Given the description of an element on the screen output the (x, y) to click on. 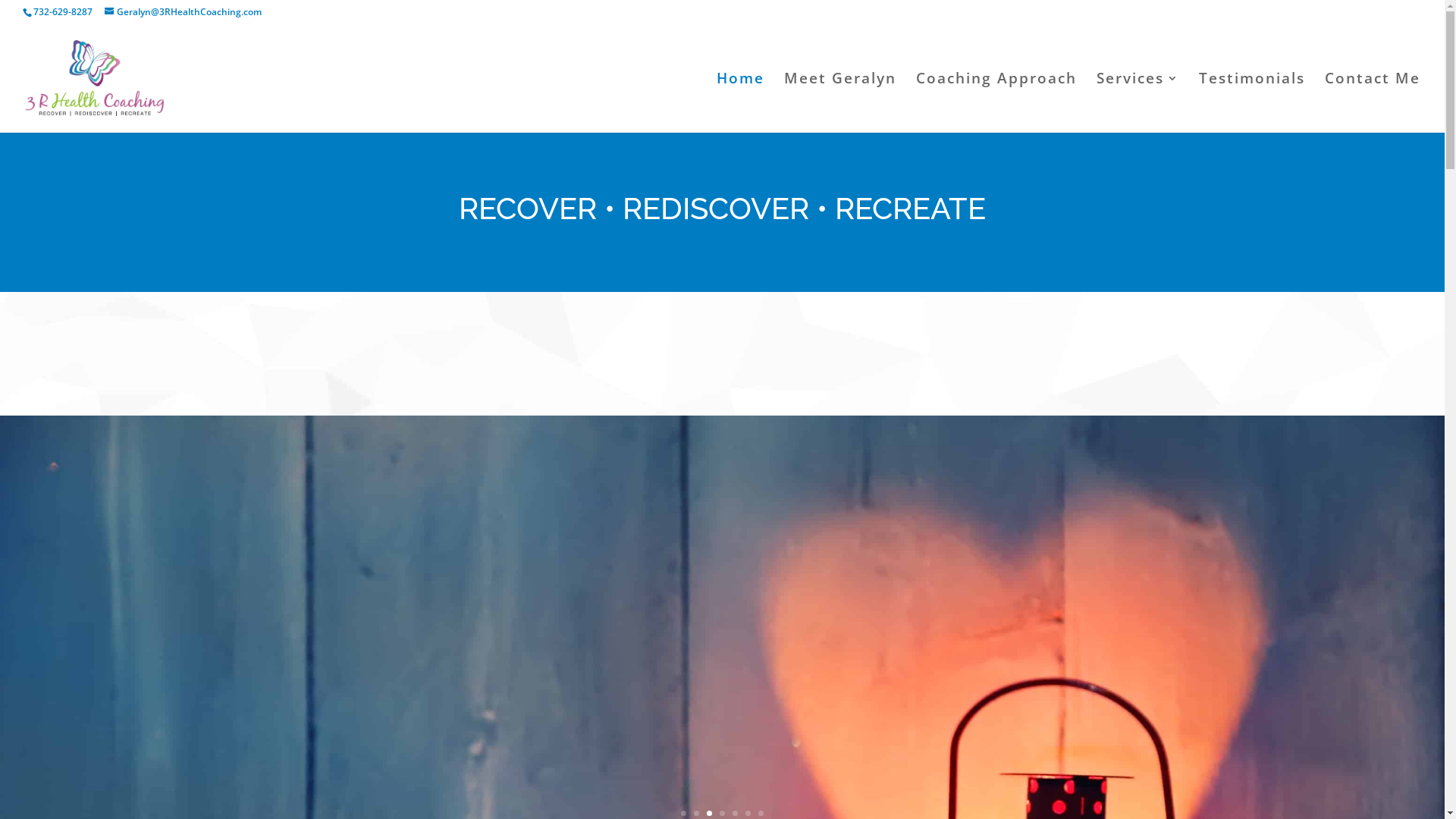
4 Element type: text (721, 812)
3 Element type: text (709, 812)
Geralyn@3RHealthCoaching.com Element type: text (182, 11)
2 Element type: text (696, 812)
Contact Me Element type: text (1372, 102)
Services Element type: text (1137, 102)
6 Element type: text (747, 812)
Meet Geralyn Element type: text (840, 102)
Home Element type: text (740, 102)
1 Element type: text (683, 812)
5 Element type: text (734, 812)
7 Element type: text (760, 812)
Coaching Approach Element type: text (996, 102)
Testimonials Element type: text (1251, 102)
